Given the description of an element on the screen output the (x, y) to click on. 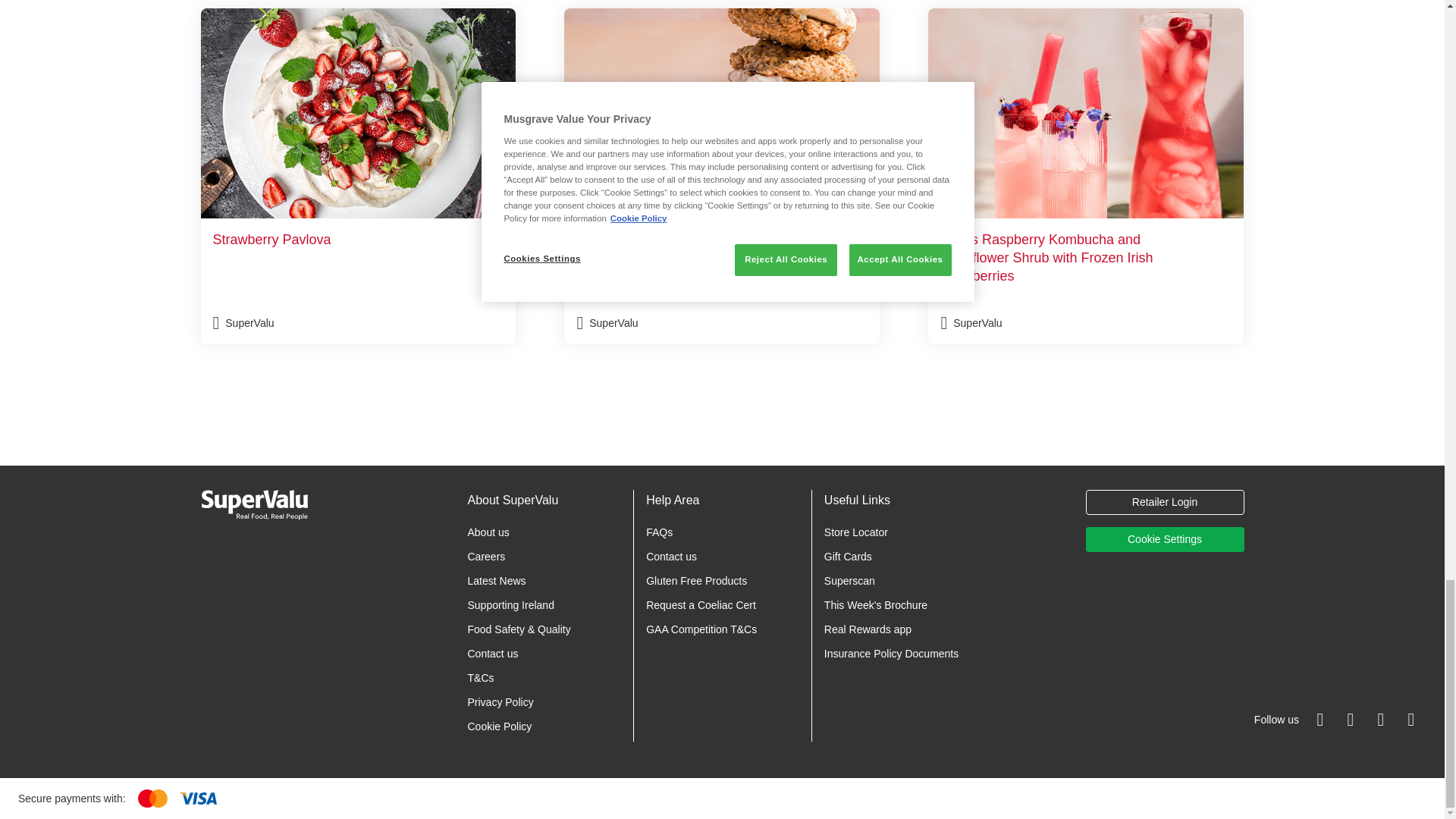
Latest News (496, 580)
Store Locator (856, 532)
Request a Coeliac Cert (700, 604)
Strawberry Pavlova (357, 175)
Careers (486, 556)
Jess's Dreamy Raspberry Ice Cream Cookie Sandwiches  (721, 175)
Contact us (671, 556)
Supporting Ireland (510, 604)
Cookie Policy (499, 726)
FAQs (659, 532)
Privacy Policy (499, 702)
About us (487, 532)
